Given the description of an element on the screen output the (x, y) to click on. 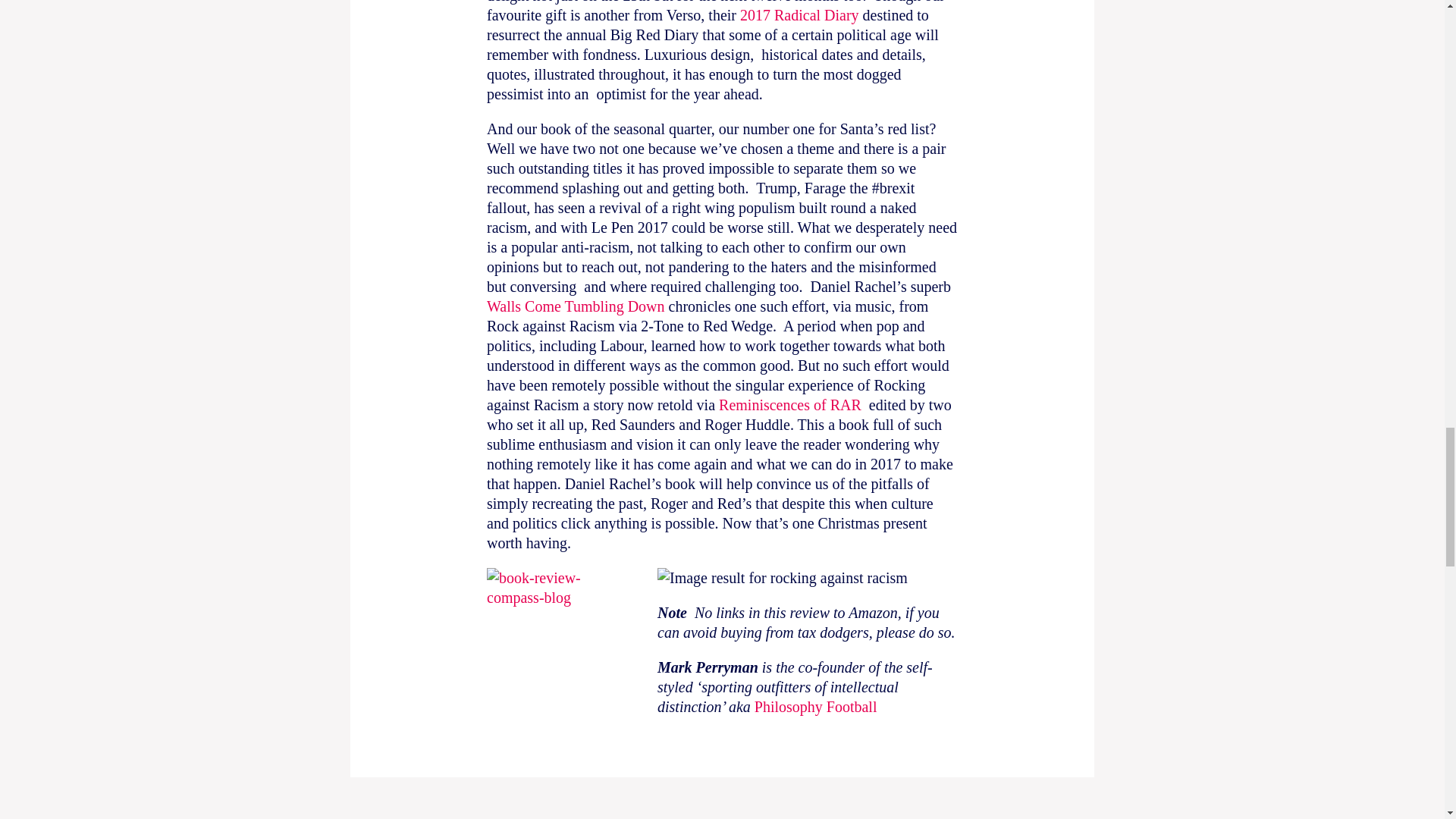
Reminiscences of RAR (790, 404)
Walls Come Tumbling Down (575, 306)
2017 Radical Diary (801, 14)
Philosophy Football (817, 706)
